Given the description of an element on the screen output the (x, y) to click on. 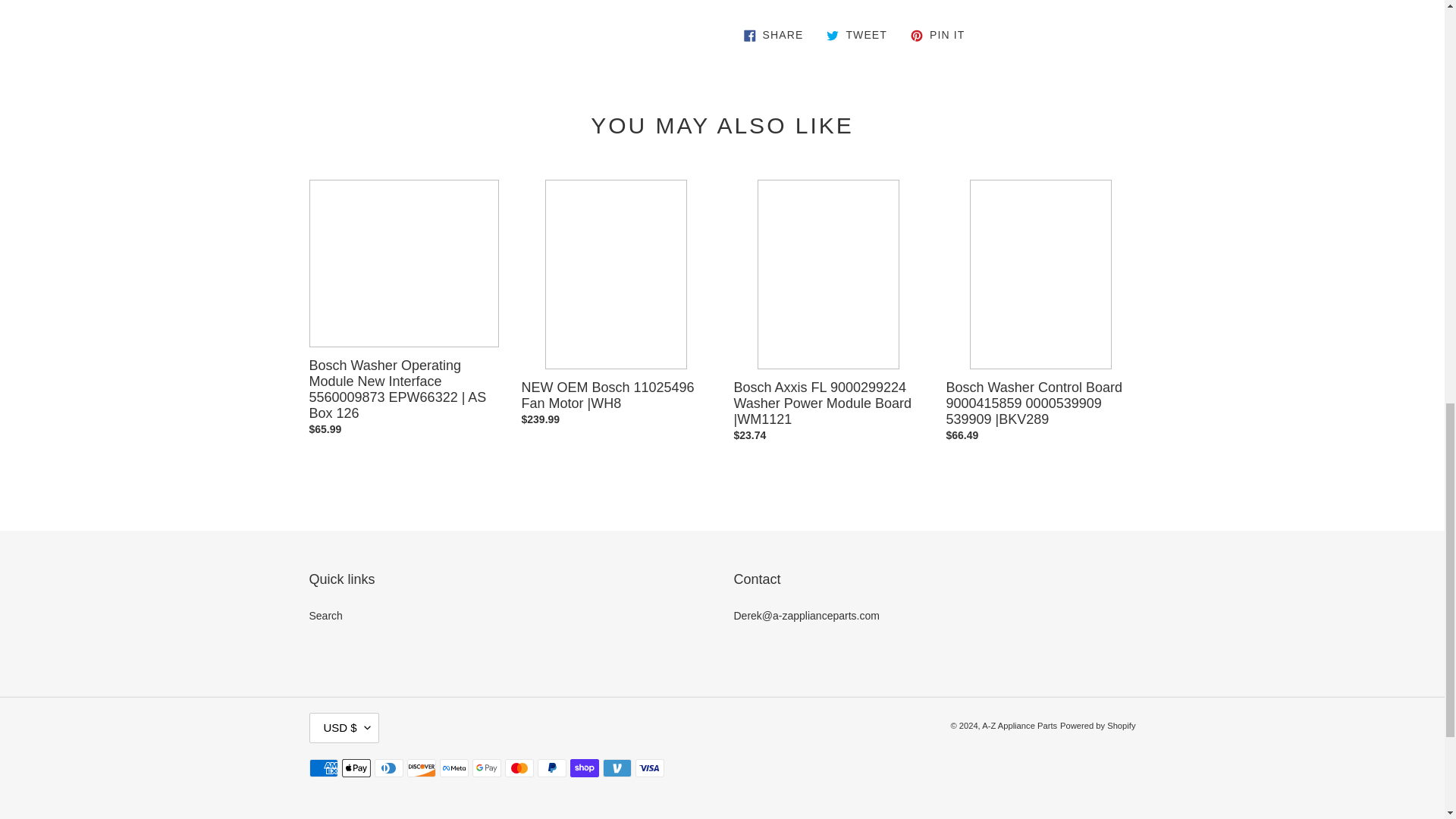
Search (856, 35)
